Given the description of an element on the screen output the (x, y) to click on. 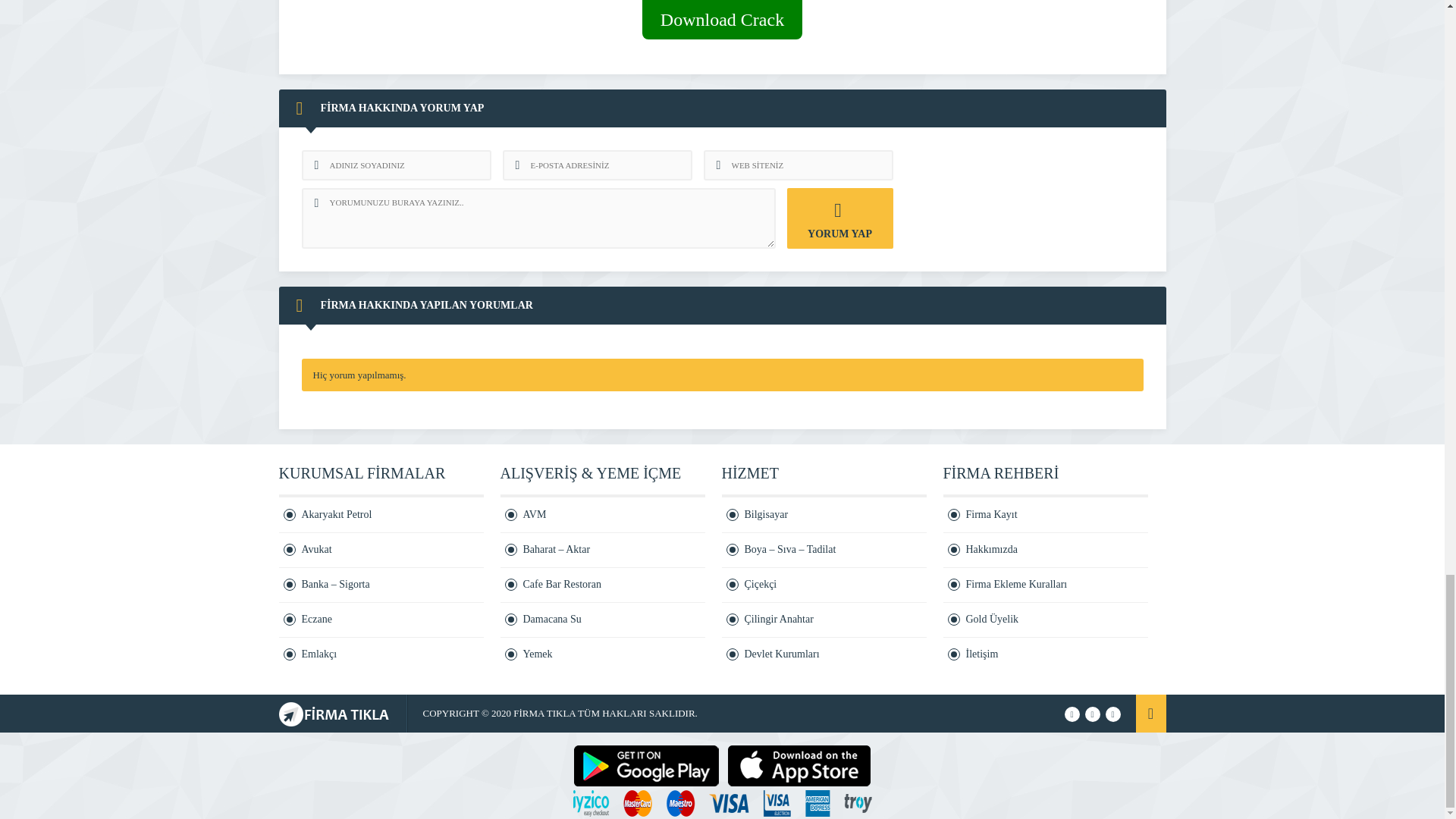
YORUM YAP (840, 218)
Avukat (381, 550)
Download Crack (722, 19)
